Given the description of an element on the screen output the (x, y) to click on. 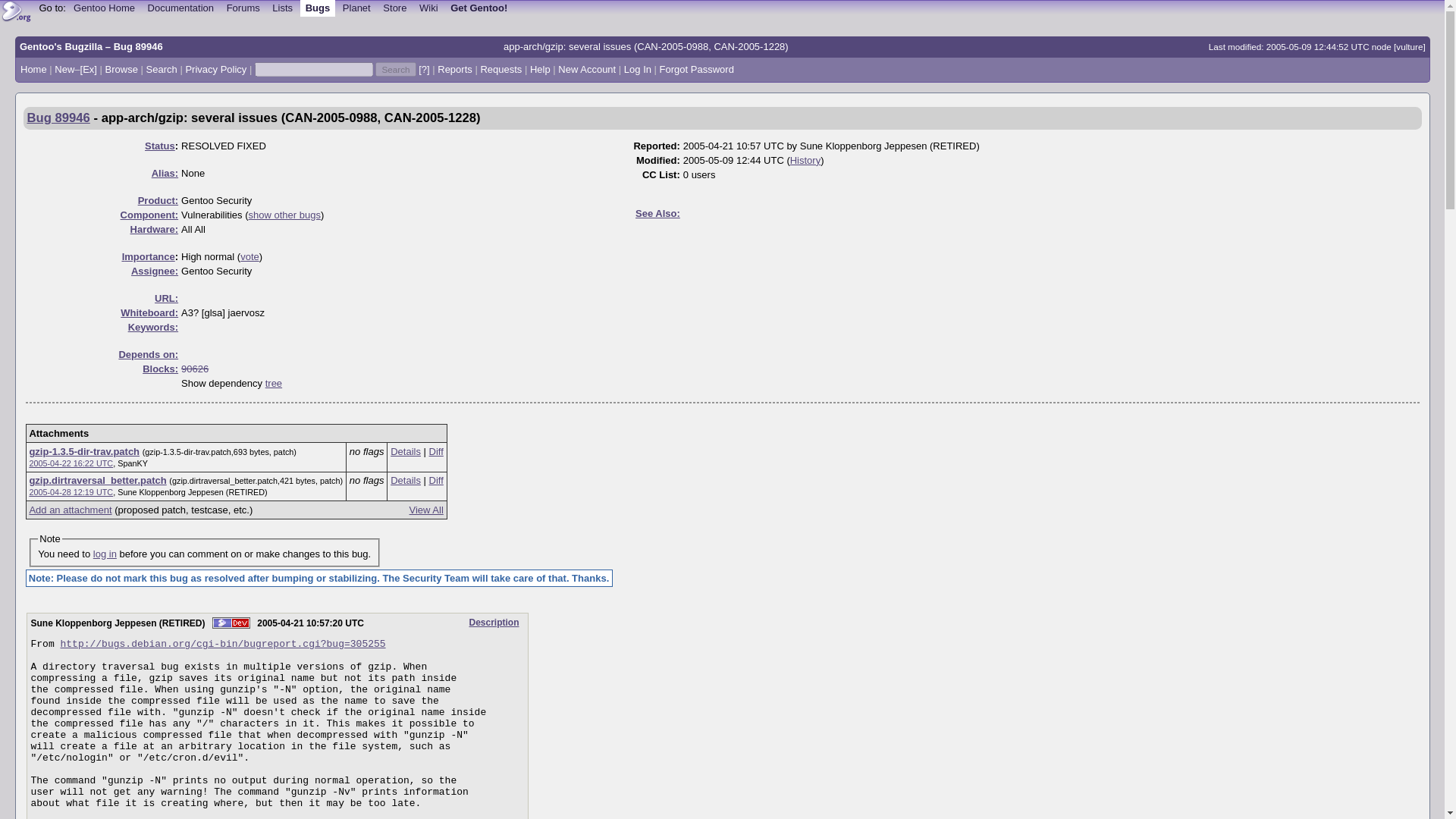
Go to the Gentoo Bugzilla homepage (16, 12)
Requests (500, 69)
Status (159, 144)
Documentation (180, 8)
Bug 89946 (58, 117)
Hardware: (155, 228)
Get Gentoo! (478, 8)
Search (162, 69)
Help (539, 69)
Planet (356, 8)
